Given the description of an element on the screen output the (x, y) to click on. 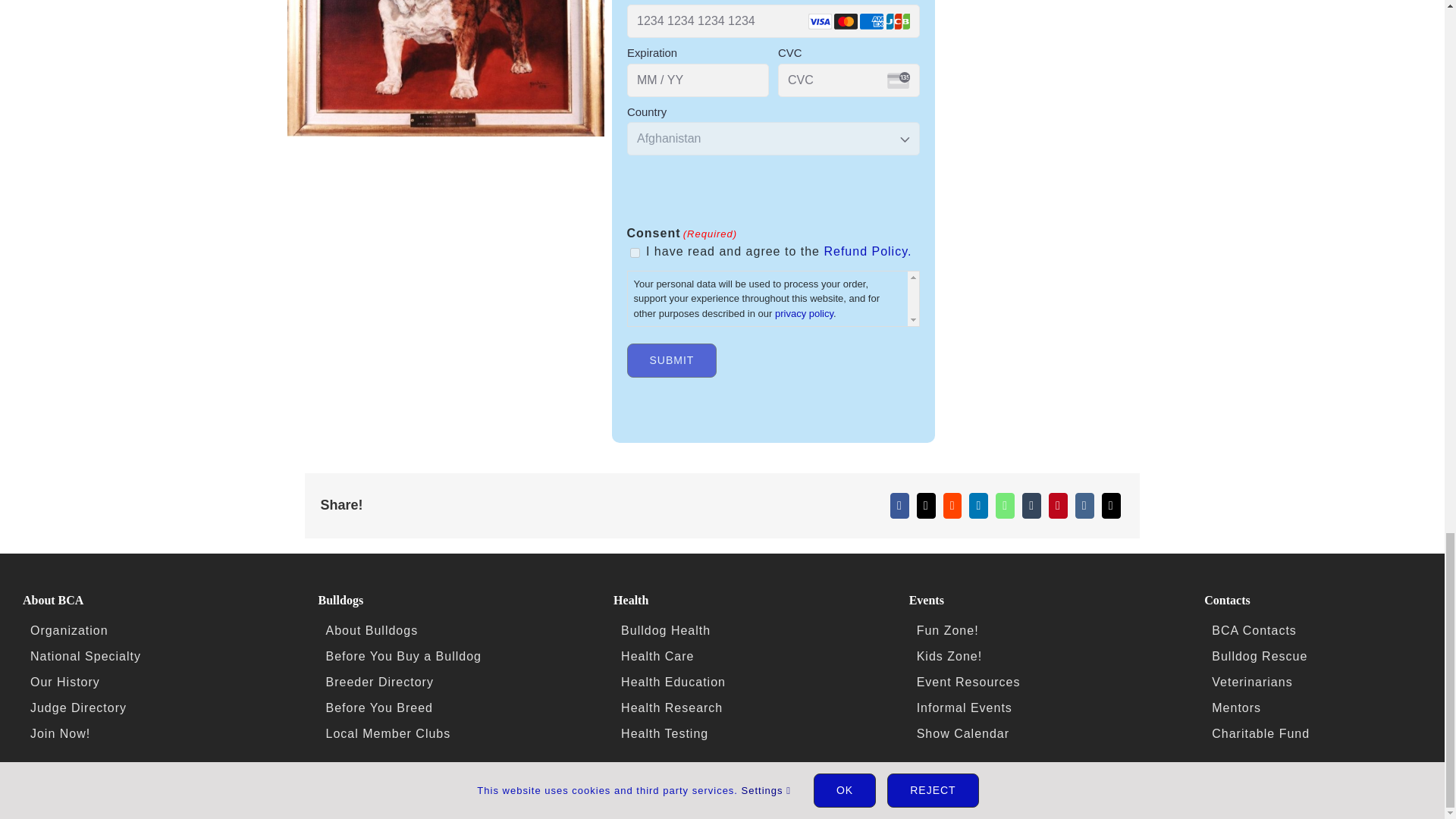
1 (633, 252)
Submit (671, 360)
